Given the description of an element on the screen output the (x, y) to click on. 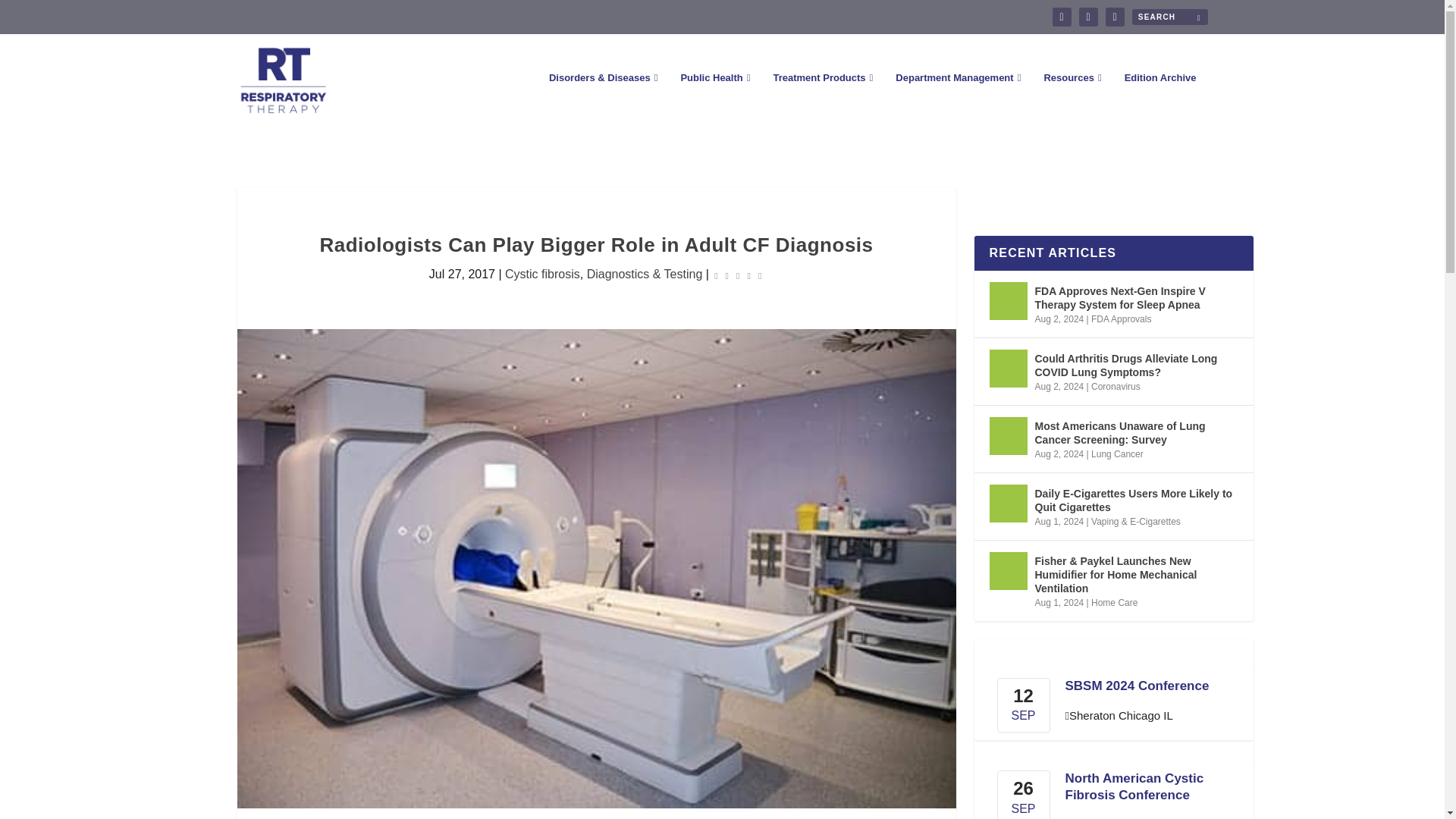
Rating: 0.00 (736, 274)
Cystic fibrosis (542, 273)
Treatment Products (822, 98)
Department Management (957, 98)
Could Arthritis Drugs Alleviate Long COVID Lung Symptoms? (1007, 368)
Resources (1071, 98)
Edition Archive (1160, 98)
Most Americans Unaware of Lung Cancer Screening: Survey (1007, 435)
